Given the description of an element on the screen output the (x, y) to click on. 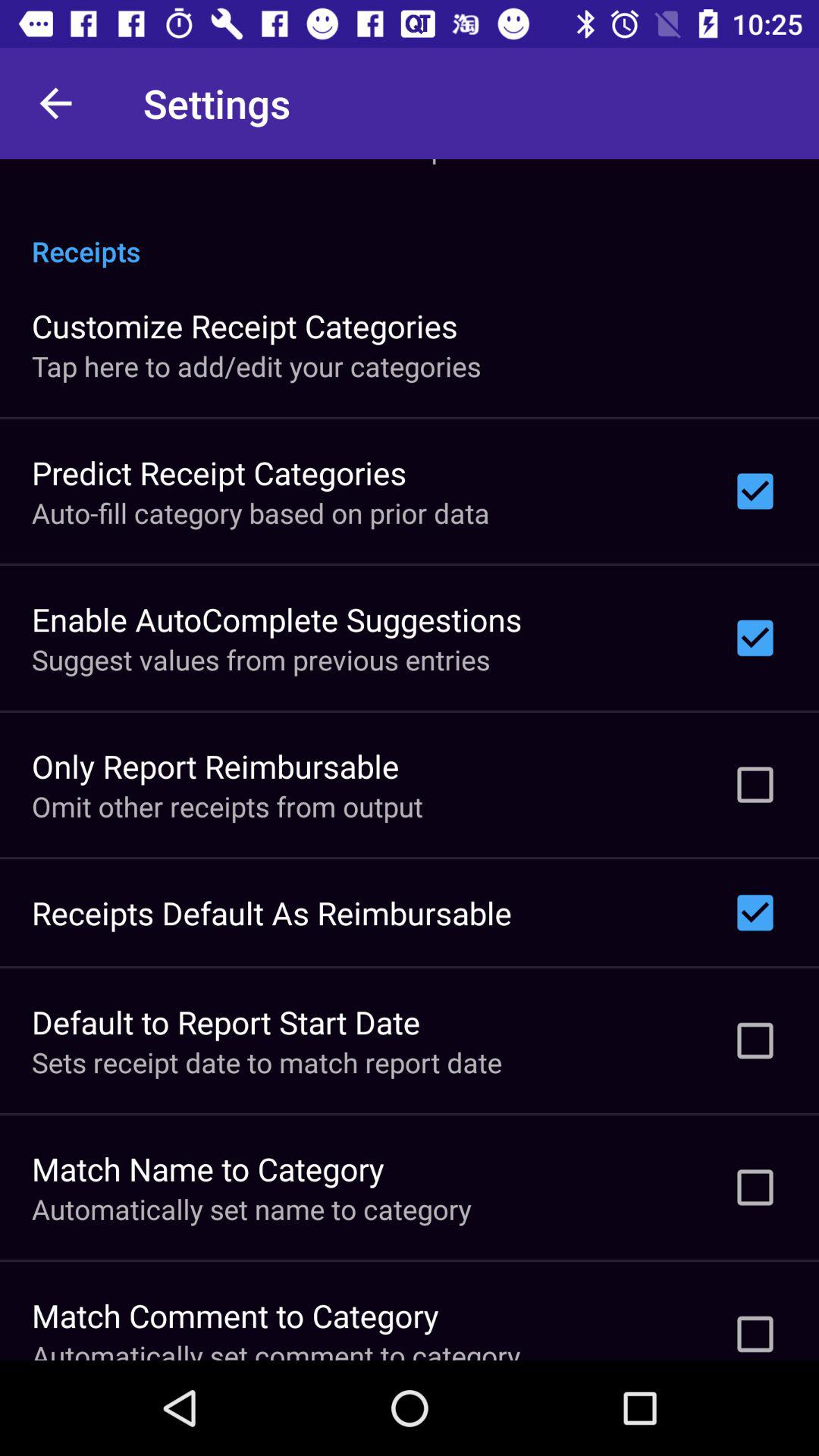
turn on item above match name to item (266, 1062)
